Given the description of an element on the screen output the (x, y) to click on. 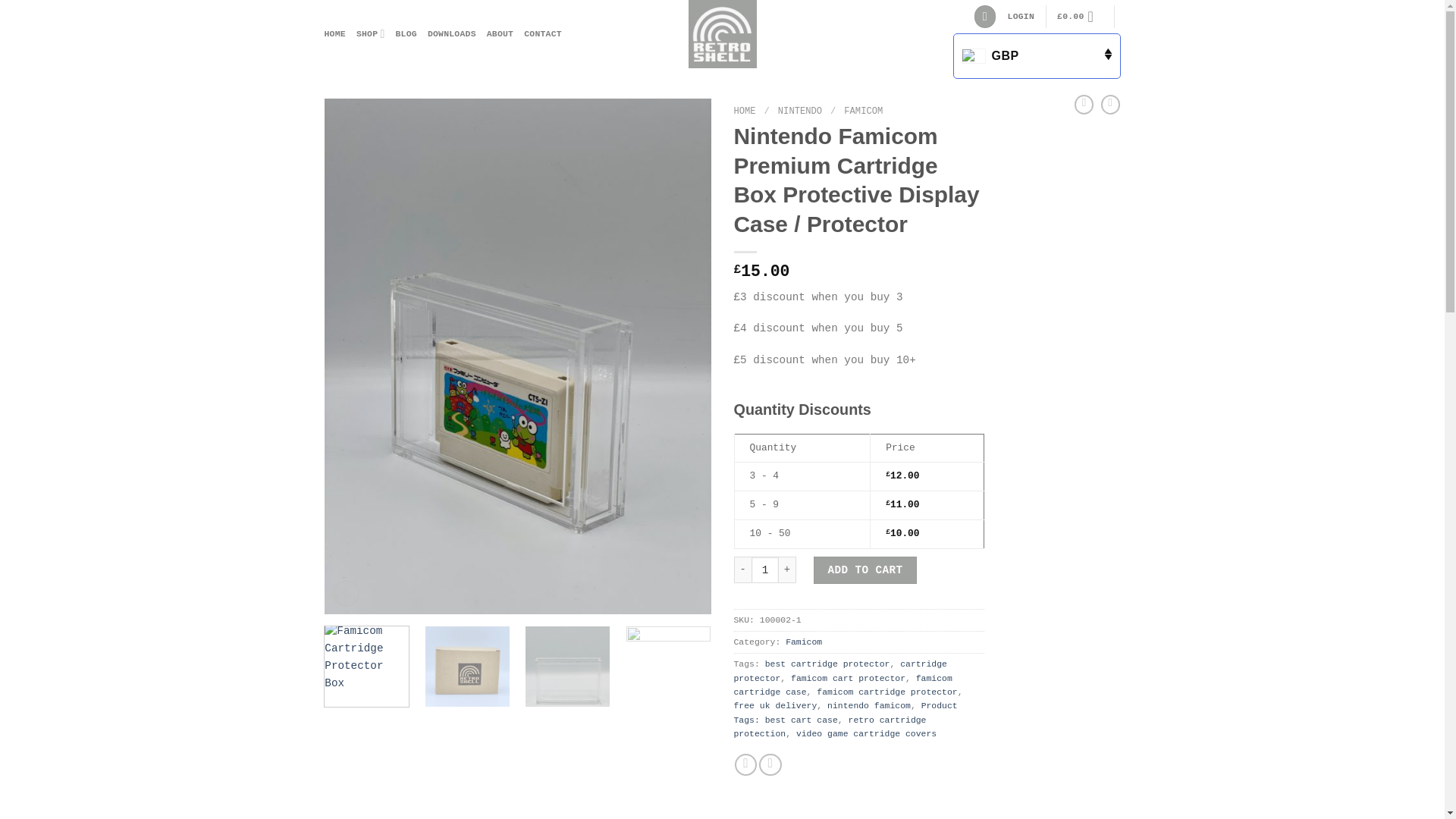
DOWNLOADS (452, 33)
CONTACT (543, 33)
SHOP (370, 33)
1 (764, 569)
ABOUT (499, 33)
LOGIN (1020, 16)
Cart (1079, 16)
GBP (1035, 55)
